Given the description of an element on the screen output the (x, y) to click on. 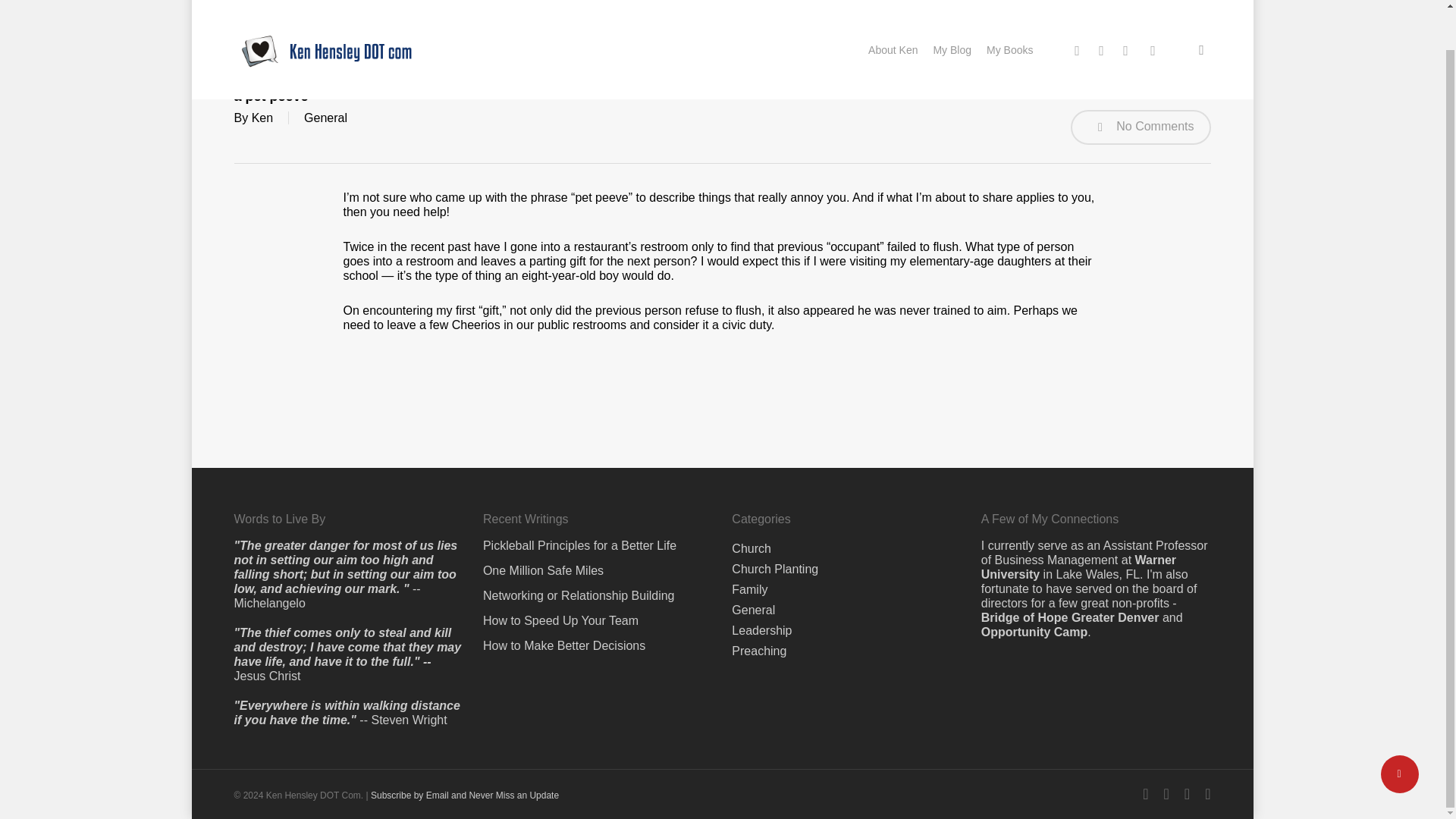
Family (749, 547)
No Comments (1140, 126)
One Million Safe Miles (598, 528)
My Books (1009, 7)
How to Speed Up Your Team (598, 578)
facebook (1101, 7)
General (753, 568)
Preaching (759, 608)
General (325, 117)
Pickleball Principles for a Better Life (598, 503)
My Blog (951, 7)
Networking or Relationship Building (598, 554)
Subscribe by Email and Never Miss an Update (465, 753)
How to Make Better Decisions (598, 603)
Opportunity Camp (1034, 590)
